Given the description of an element on the screen output the (x, y) to click on. 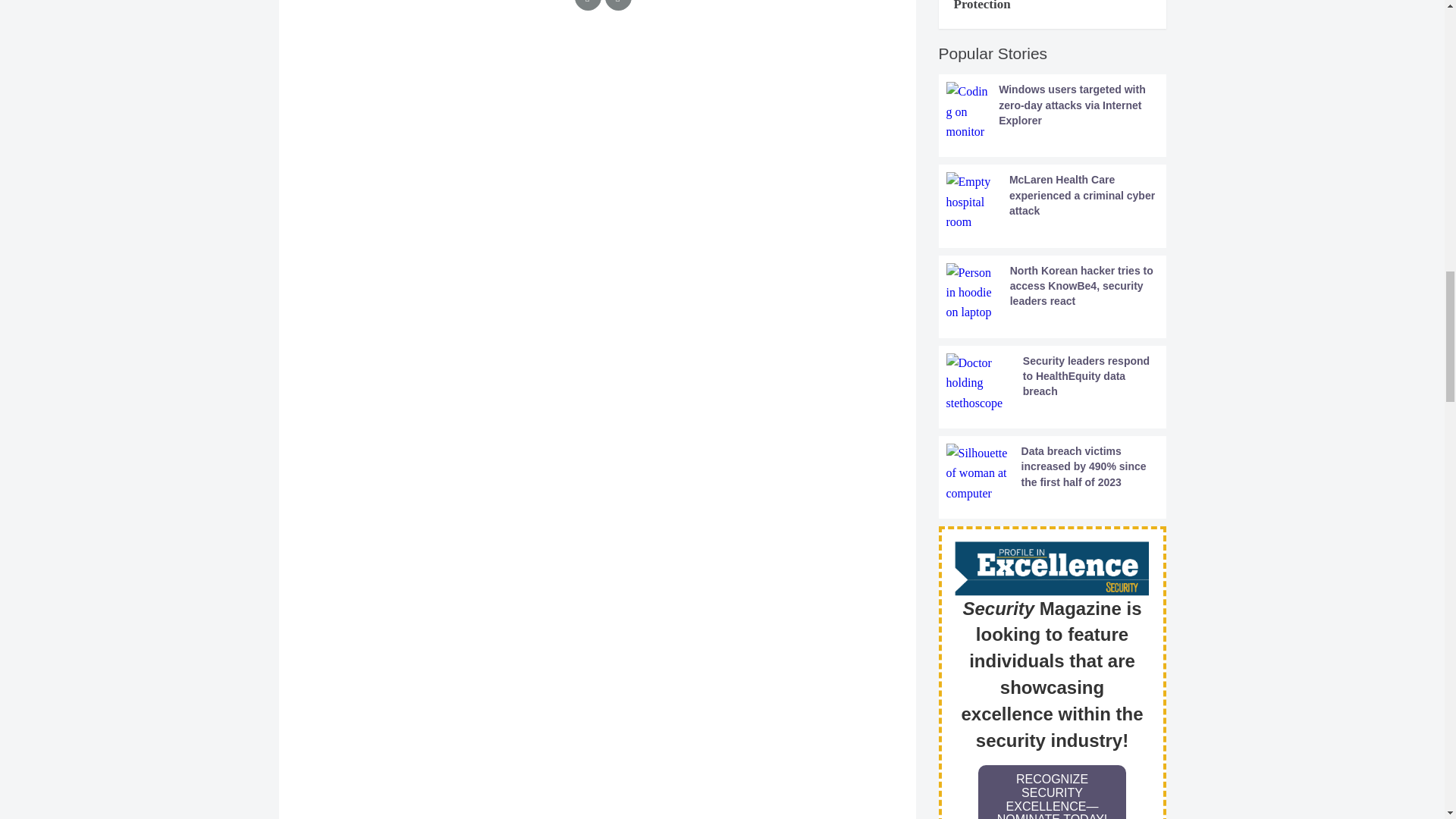
McLaren Health Care experienced a criminal cyber attack (1052, 201)
Interaction questions (597, 115)
Security leaders respond to HealthEquity data breach (1052, 382)
